Given the description of an element on the screen output the (x, y) to click on. 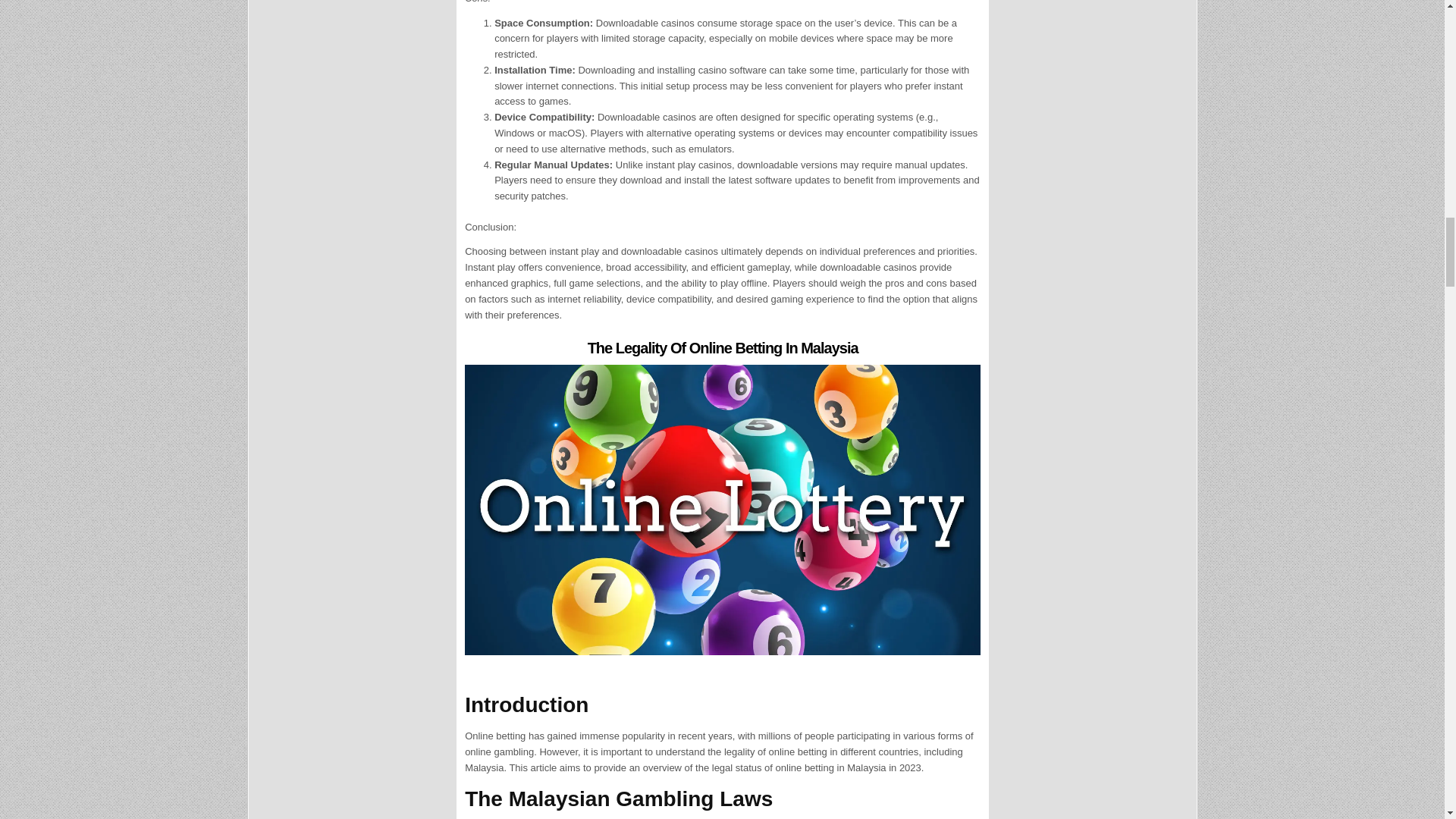
The Legality Of Online Betting In Malaysia (723, 347)
